Given the description of an element on the screen output the (x, y) to click on. 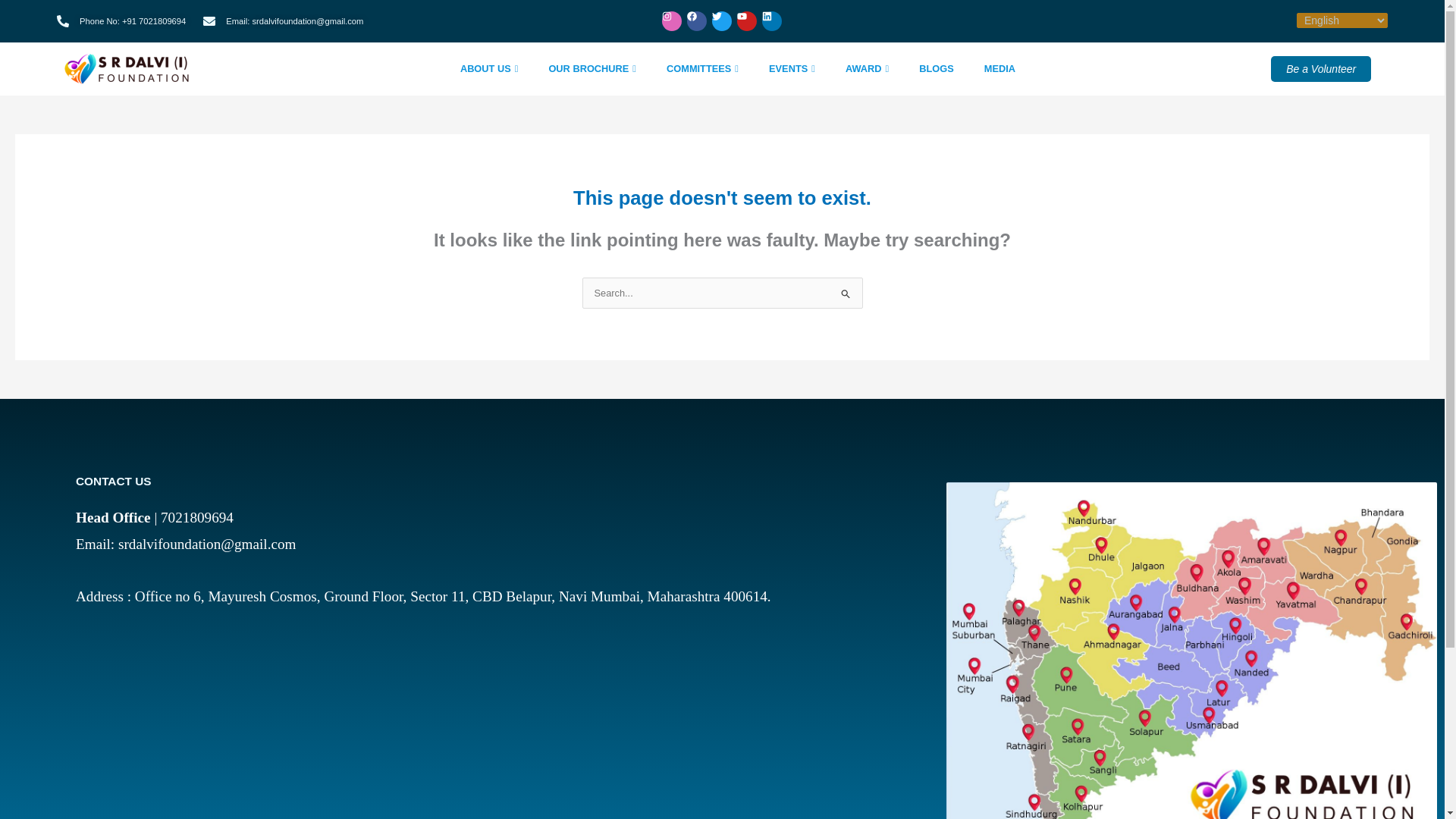
AWARD (866, 68)
Twitter (868, 21)
Linkedin (901, 21)
Facebook (860, 21)
ABOUT US (489, 68)
EVENTS (791, 68)
Search (844, 296)
OUR BROCHURE (591, 68)
COMMITTEES (702, 68)
Youtube (885, 21)
